Given the description of an element on the screen output the (x, y) to click on. 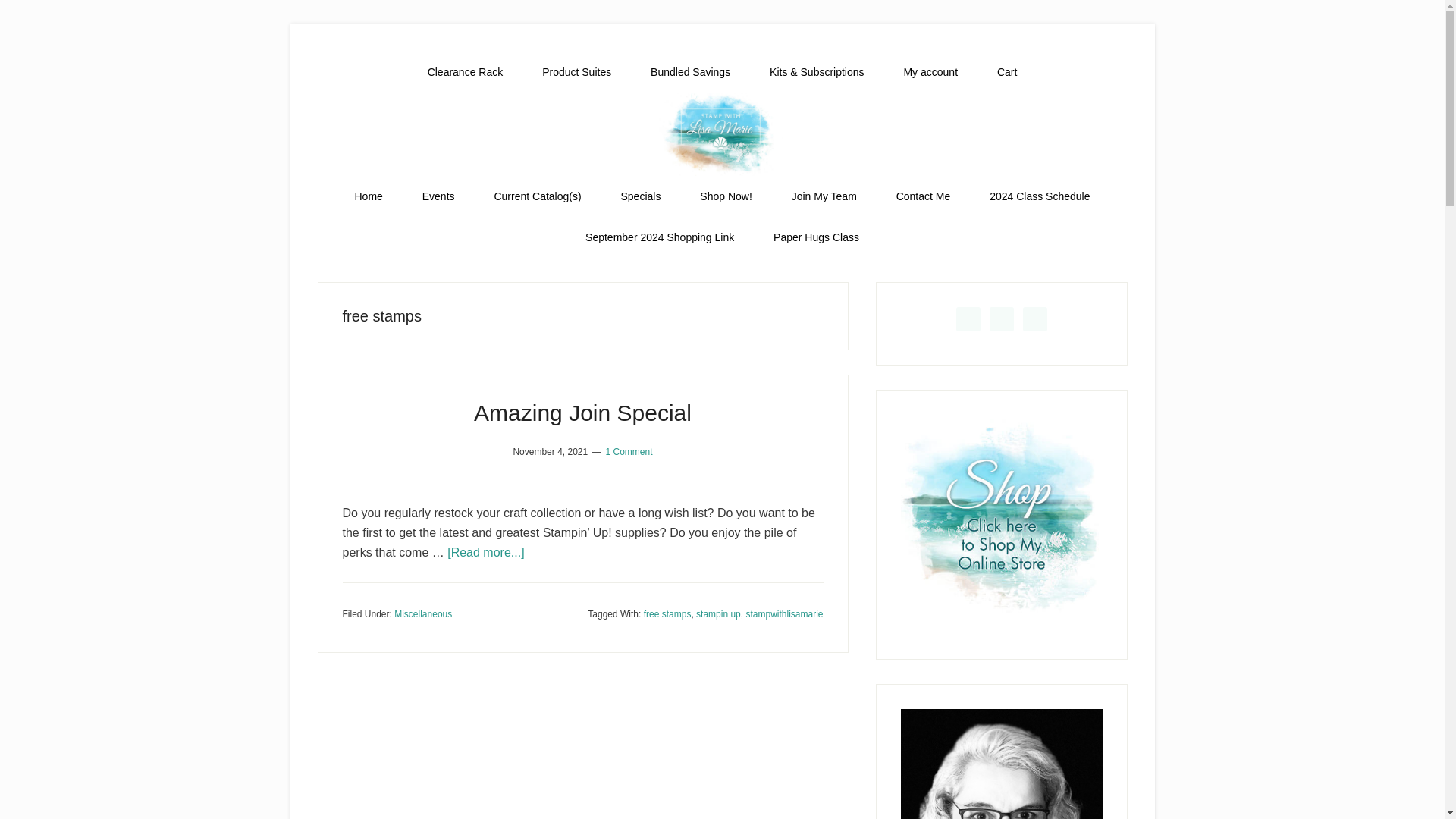
Amazing Join Special (582, 412)
My account (930, 71)
1 Comment (628, 451)
Product Suites (576, 71)
Join My Team (824, 196)
Shop Now! (725, 196)
stampin up (718, 613)
Miscellaneous (422, 613)
Contact Me (923, 196)
Bundled Savings (689, 71)
